Given the description of an element on the screen output the (x, y) to click on. 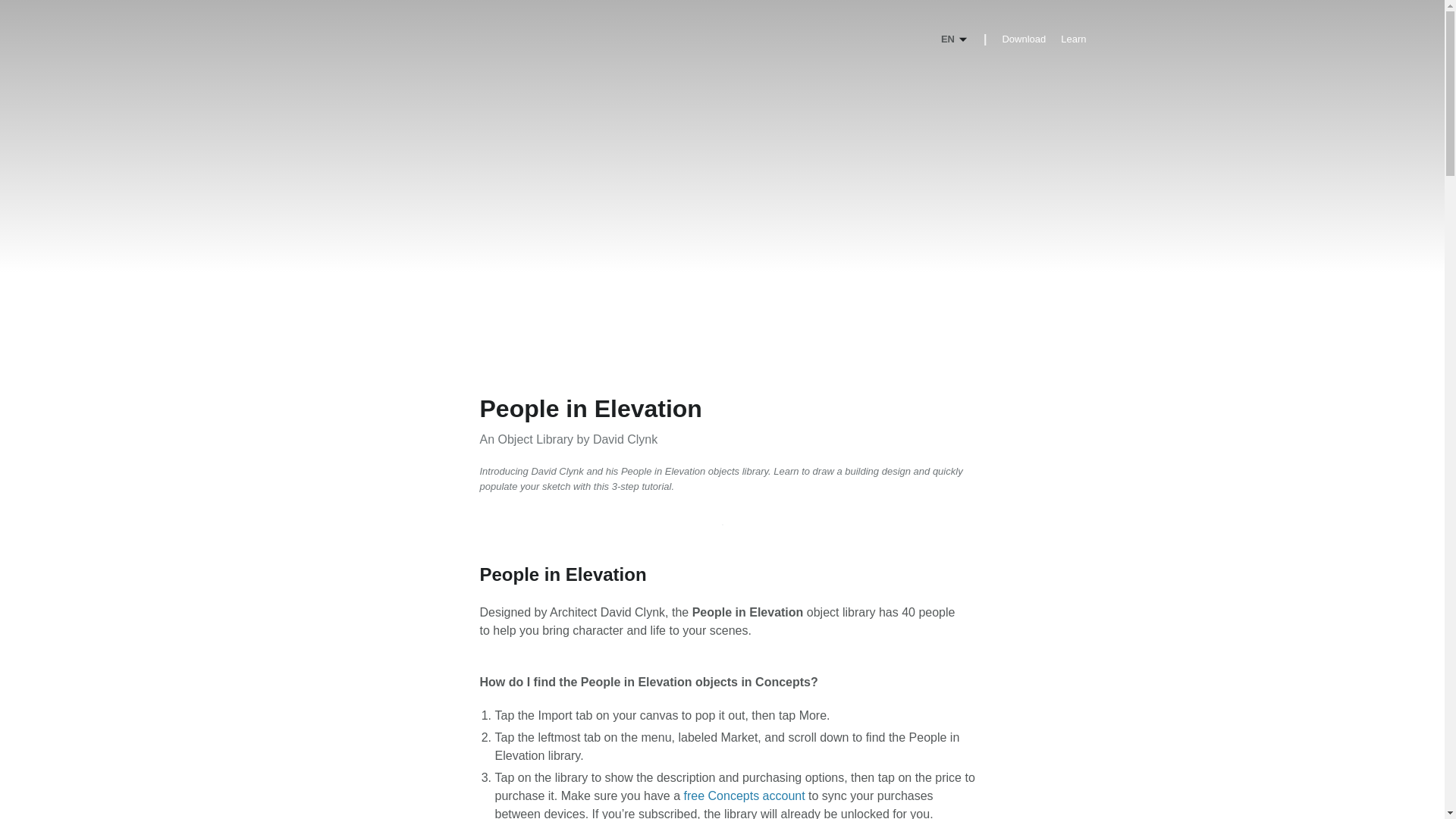
Download (1023, 38)
free Concepts account (744, 795)
Learn (1073, 38)
